Given the description of an element on the screen output the (x, y) to click on. 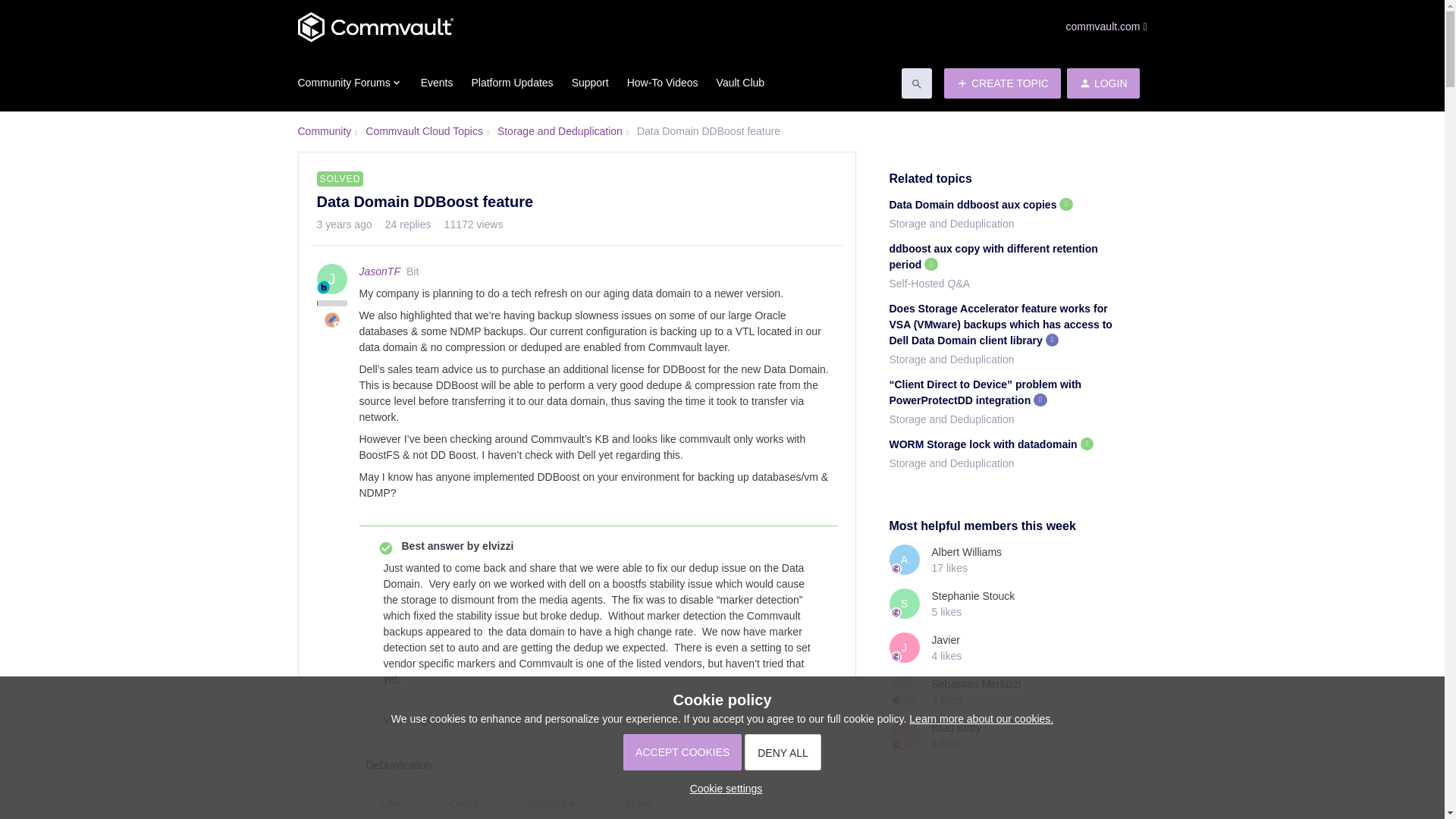
J (332, 278)
Community Forums (349, 82)
Commvault Cloud Topics (424, 131)
JasonTF (379, 271)
Topic Starter 1 (331, 319)
Storage and Deduplication (560, 131)
LOGIN (1103, 82)
Bit (323, 287)
CREATE TOPIC (1002, 82)
24 replies (407, 224)
